Given the description of an element on the screen output the (x, y) to click on. 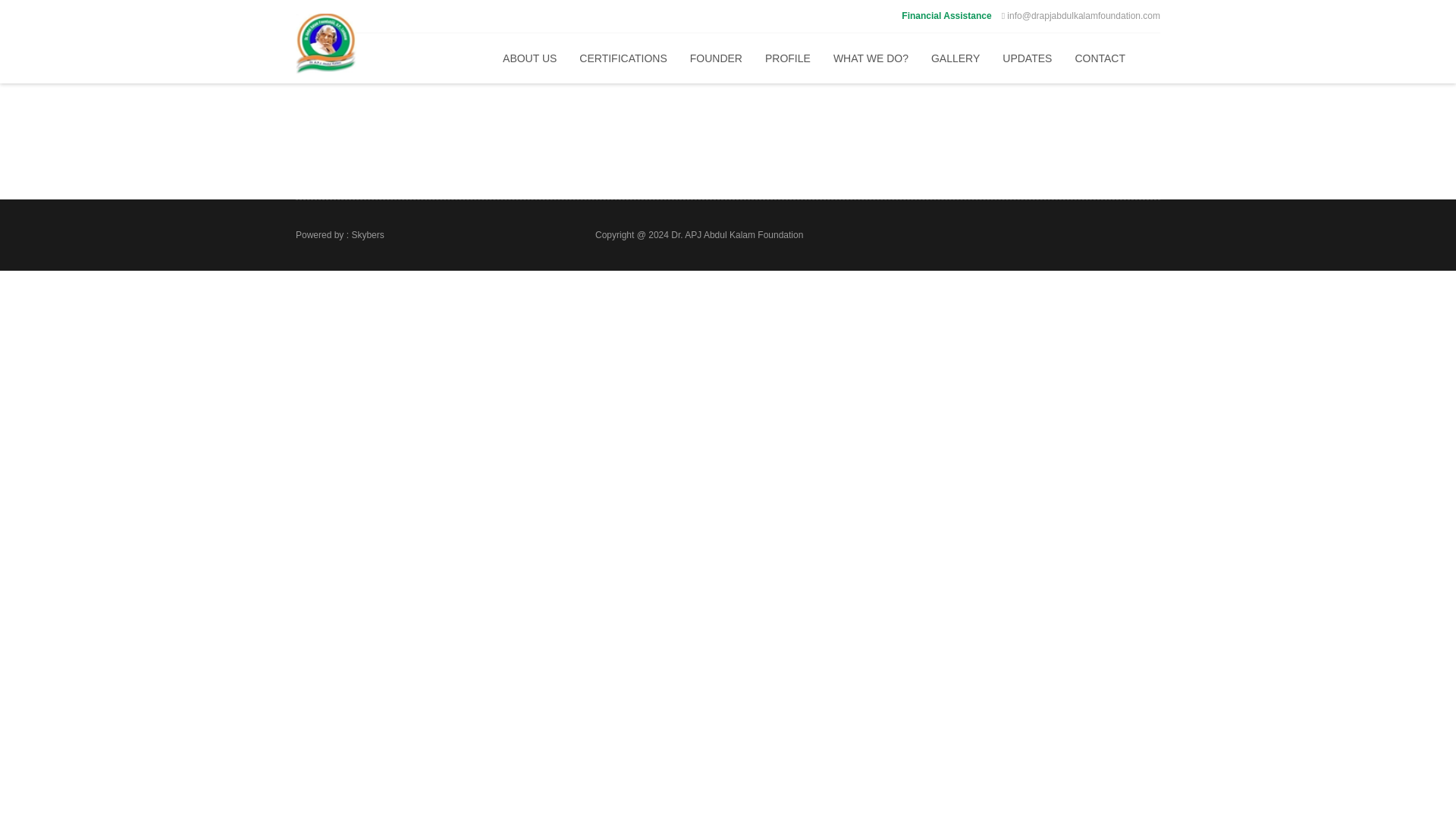
ABOUT US (529, 58)
UPDATES (1026, 58)
GALLERY (955, 58)
Financial Assistance (946, 15)
CONTACT (1099, 58)
Skybers (367, 235)
FOUNDER (716, 58)
WHAT WE DO? (871, 58)
CERTIFICATIONS (622, 58)
PROFILE (788, 58)
